Given the description of an element on the screen output the (x, y) to click on. 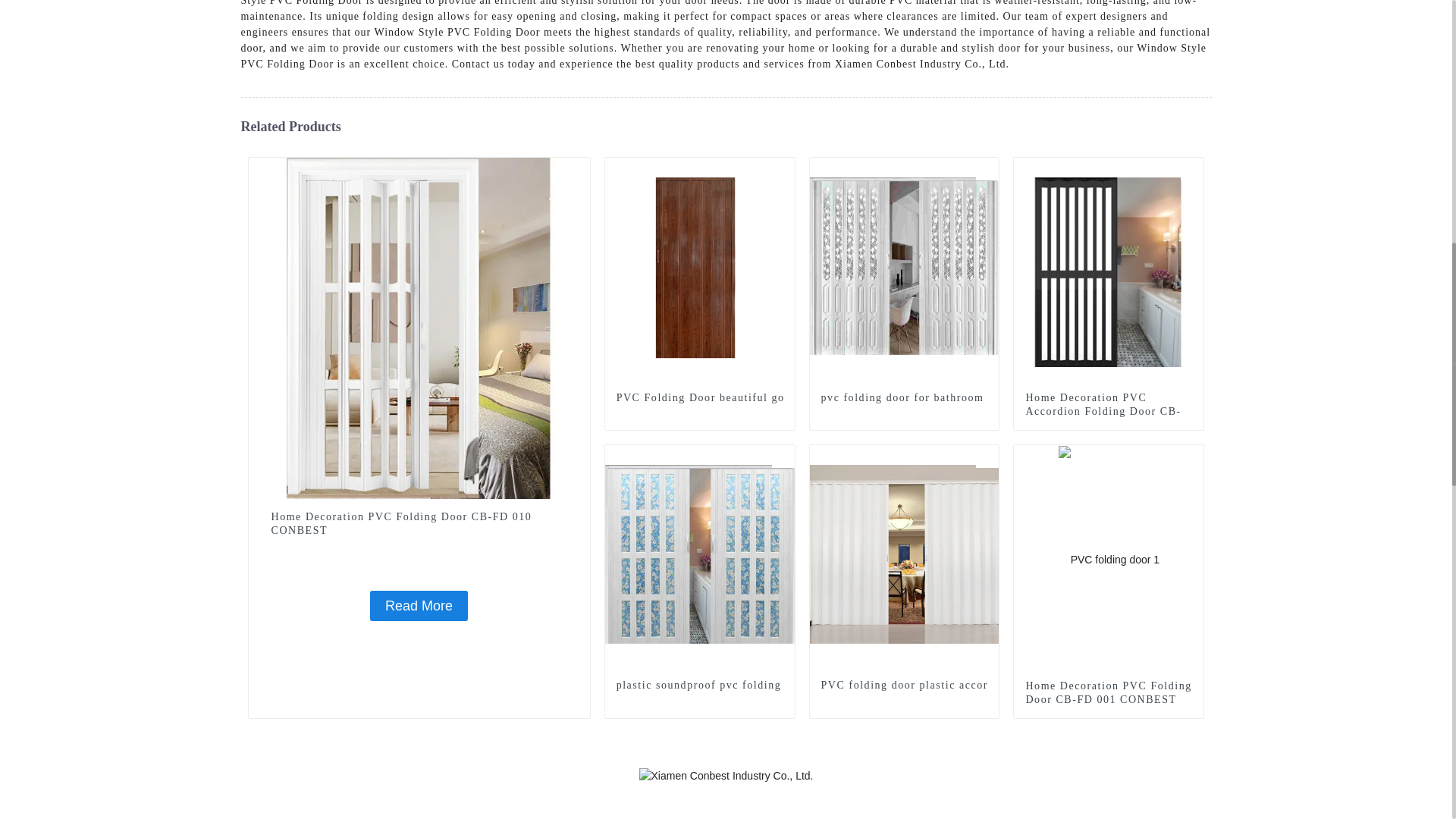
Home Decoration PVC Accordion Folding Door CB-FD 007 CONBEST (1108, 271)
Home Decoration PVC Folding Door CB-FD 001 CONBEST (1108, 692)
PVC folding door plastic accordion door (904, 685)
PVC Folding Door beautiful good quality doors (699, 397)
PVC  folding door 1 (1192, 169)
Home Decoration PVC Folding Door CB-FD 010 CONBEST (418, 327)
Home Decoration PVC Accordion Folding Door CB-FD 007 CONBEST (1108, 411)
Home Decoration PVC Folding Door CB-FD 010 CONBEST (418, 523)
